Given the description of an element on the screen output the (x, y) to click on. 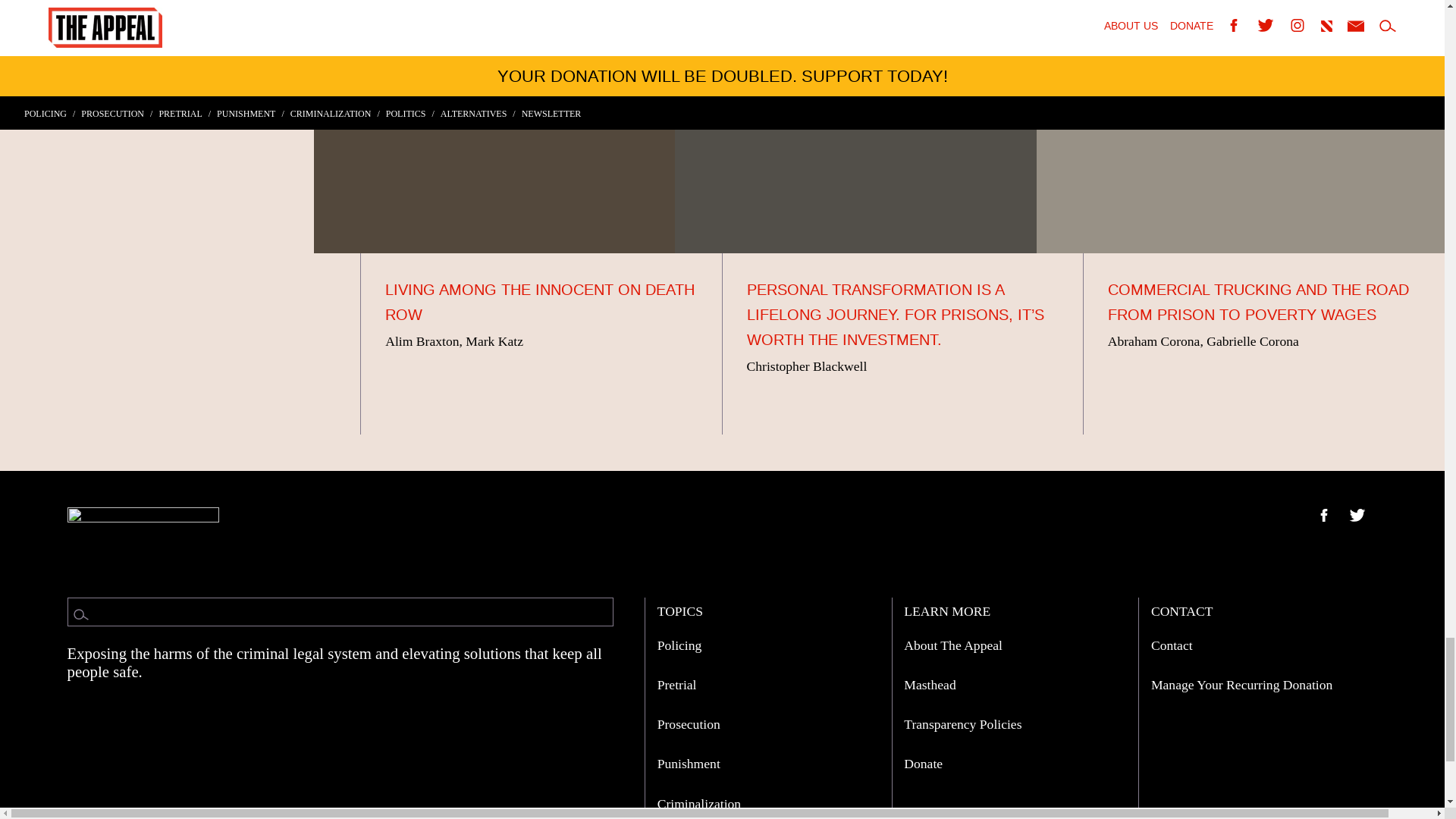
Pretrial (677, 684)
Prosecution (689, 724)
Policing (679, 645)
